Given the description of an element on the screen output the (x, y) to click on. 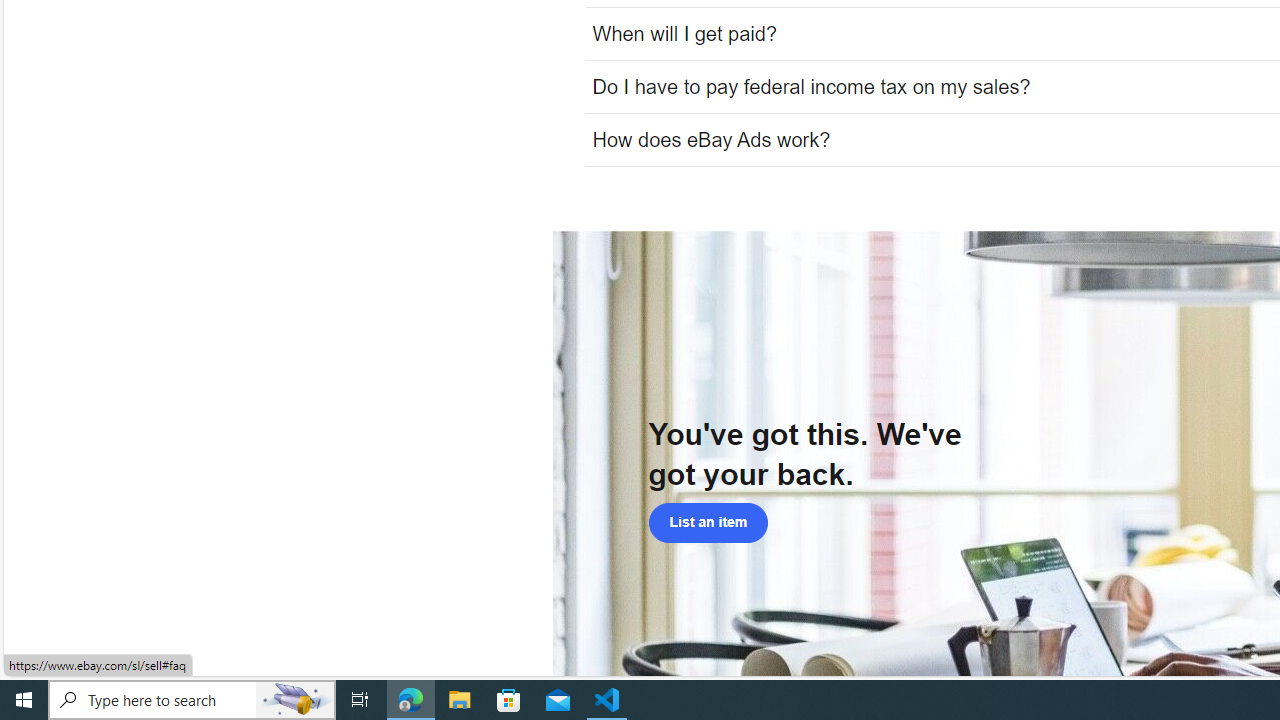
List an item (708, 522)
